Given the description of an element on the screen output the (x, y) to click on. 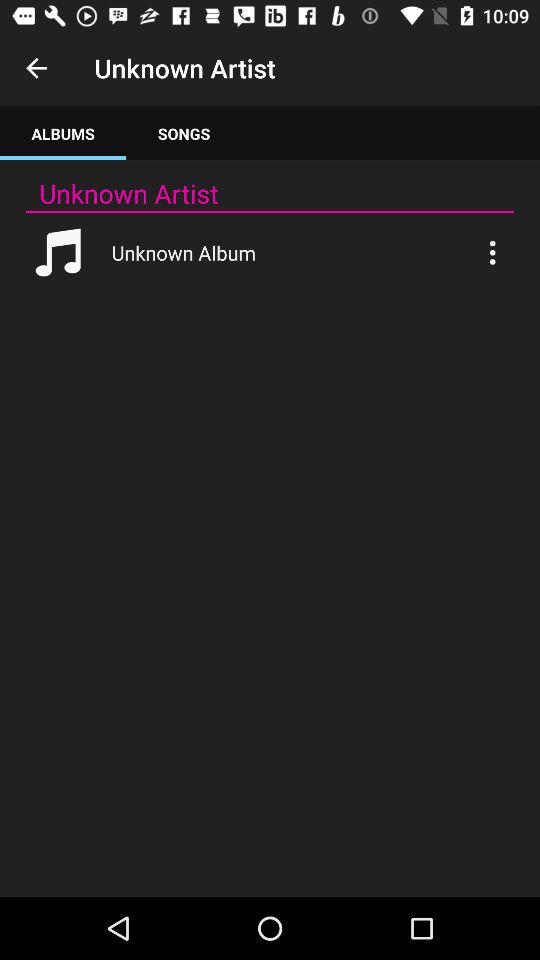
turn off the item below unknown artist app (269, 211)
